Given the description of an element on the screen output the (x, y) to click on. 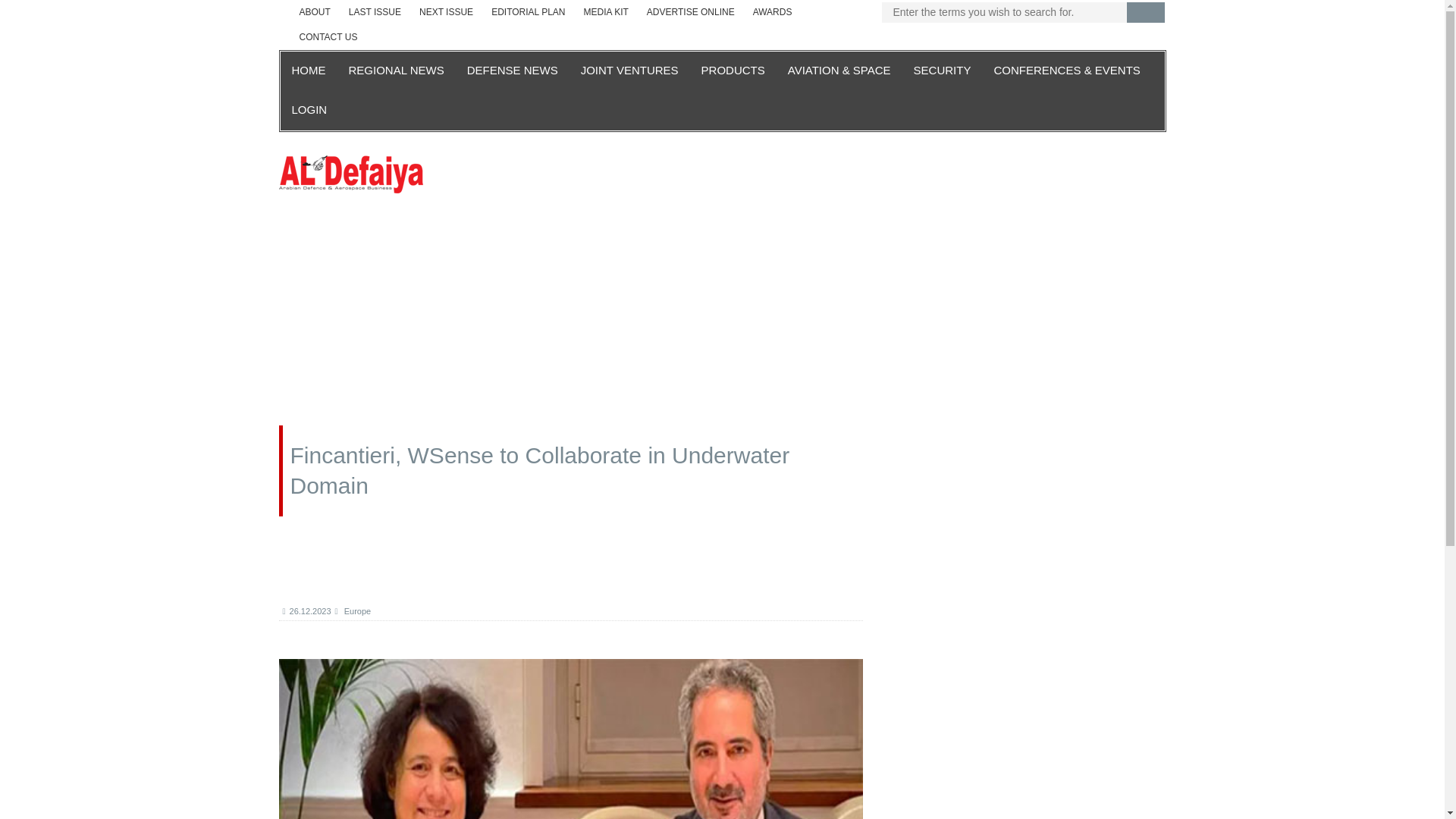
ABOUT (314, 12)
Europe (352, 610)
Fincantieri, WSense to Collaborate in Underwater Domain (571, 739)
LAST ISSUE (374, 12)
NEXT ISSUE (445, 12)
EDITORIAL PLAN (527, 12)
ADVERTISE ONLINE (690, 12)
DEFENSE NEWS (512, 70)
LOGIN (310, 110)
Search (1145, 12)
